Given the description of an element on the screen output the (x, y) to click on. 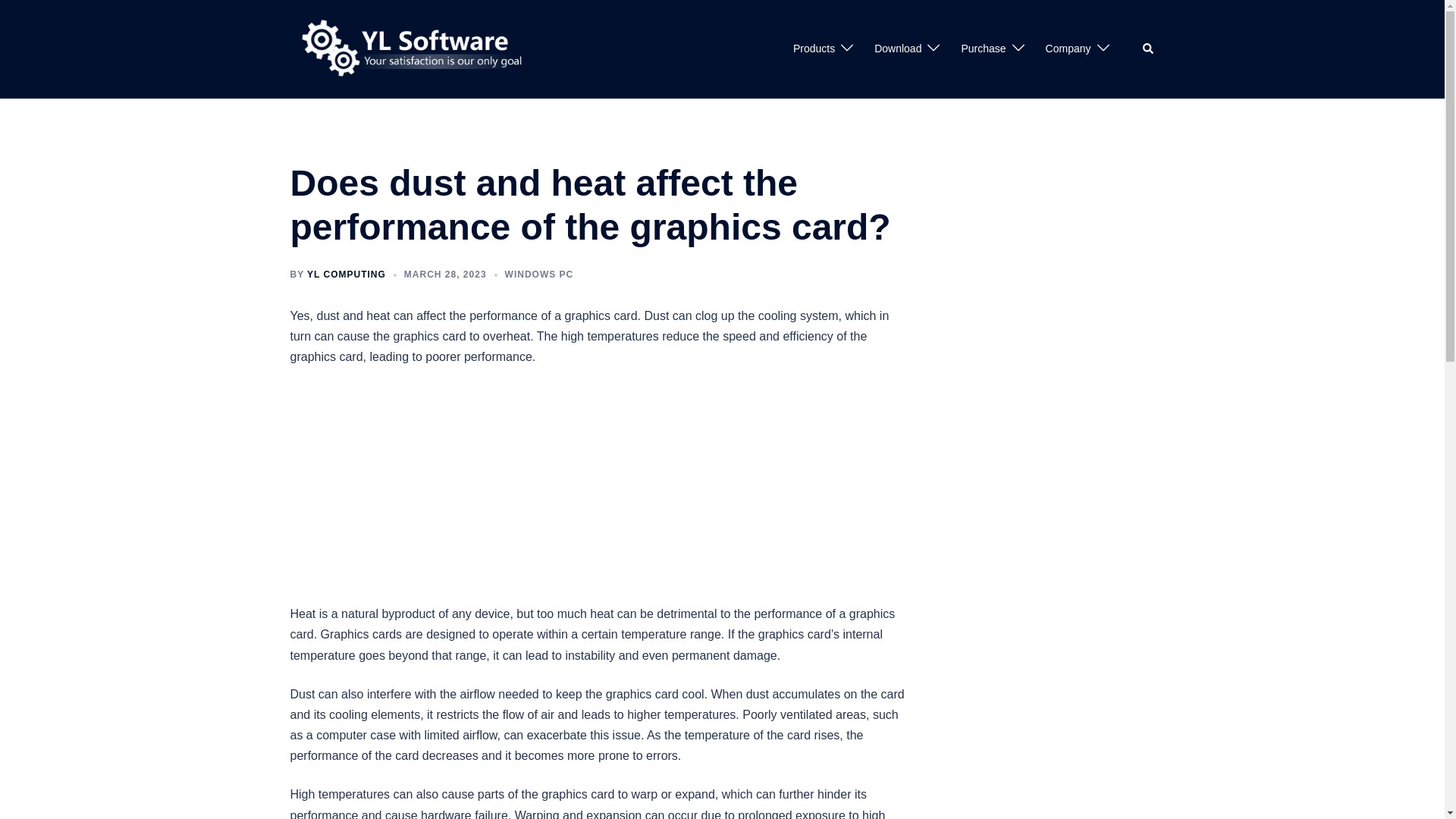
YL Computing (416, 47)
Products (813, 49)
Advertisement (599, 490)
